Given the description of an element on the screen output the (x, y) to click on. 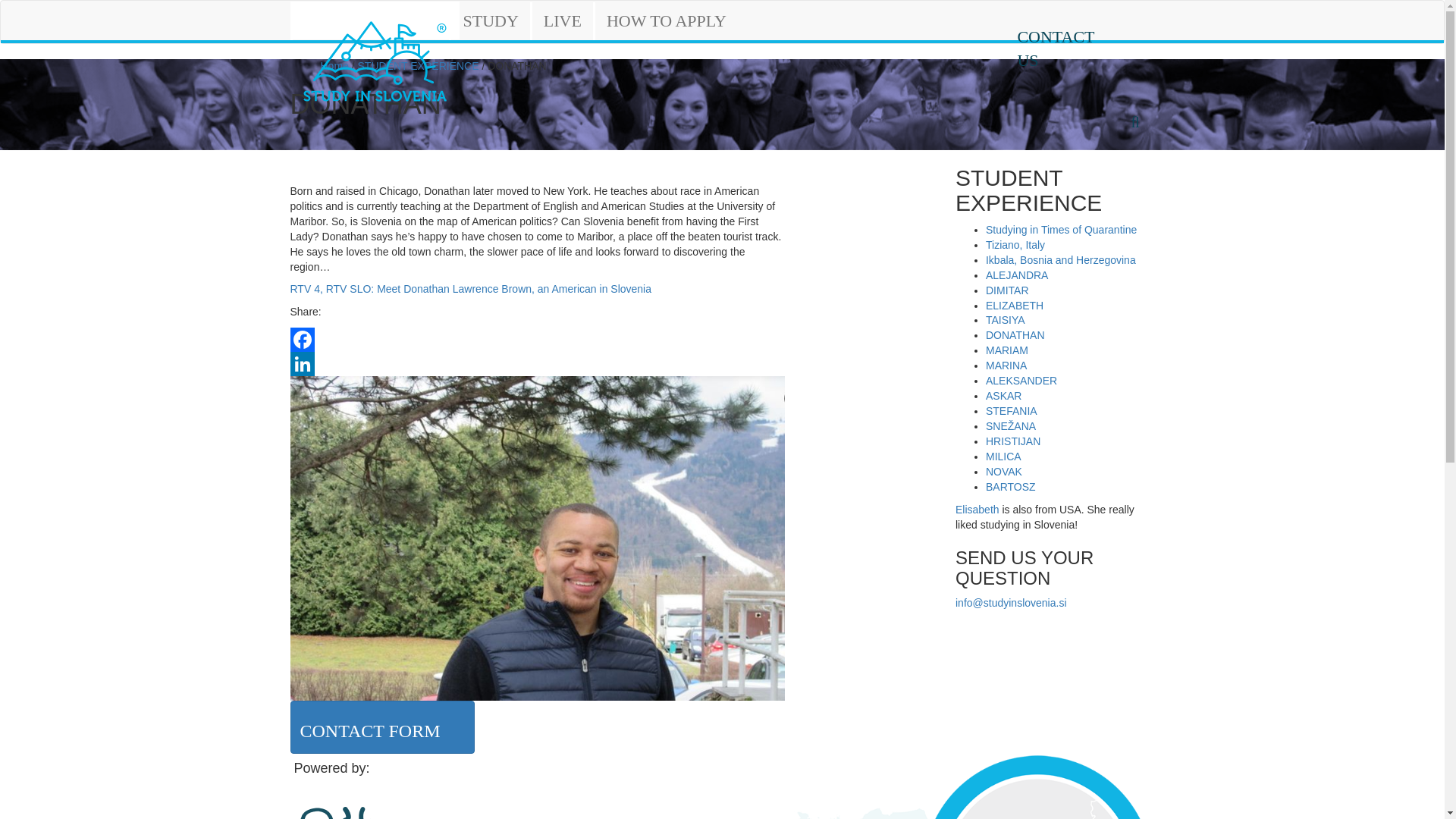
CONTACT US (1065, 45)
STUDENT EXPERIENCE (418, 65)
Home (333, 65)
WHY SLOVENIA? (370, 21)
Facebook (536, 339)
Go to STUDENT EXPERIENCE. (418, 65)
STUDY (490, 21)
LIVE (562, 21)
HOW TO APPLY (666, 21)
Go to Study in Slovenia. (333, 65)
LinkedIn (536, 363)
